Given the description of an element on the screen output the (x, y) to click on. 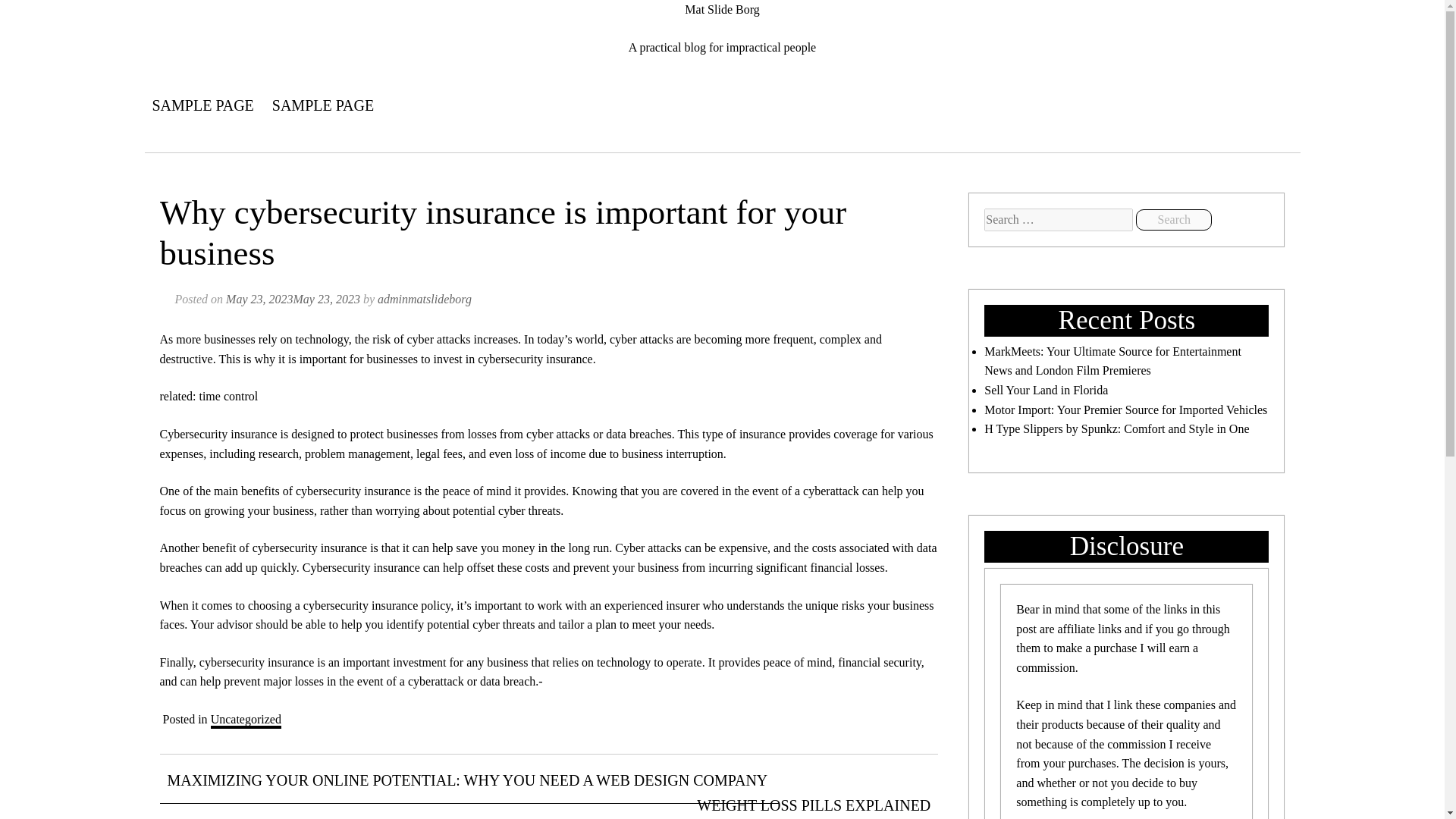
adminmatslideborg (424, 298)
May 23, 2023May 23, 2023 (292, 298)
SAMPLE PAGE (202, 104)
Uncategorized (246, 720)
time control (227, 395)
Sell Your Land in Florida (1046, 390)
Mat Slide Borg (721, 9)
SAMPLE PAGE (322, 104)
WEIGHT LOSS PILLS EXPLAINED (812, 800)
